Given the description of an element on the screen output the (x, y) to click on. 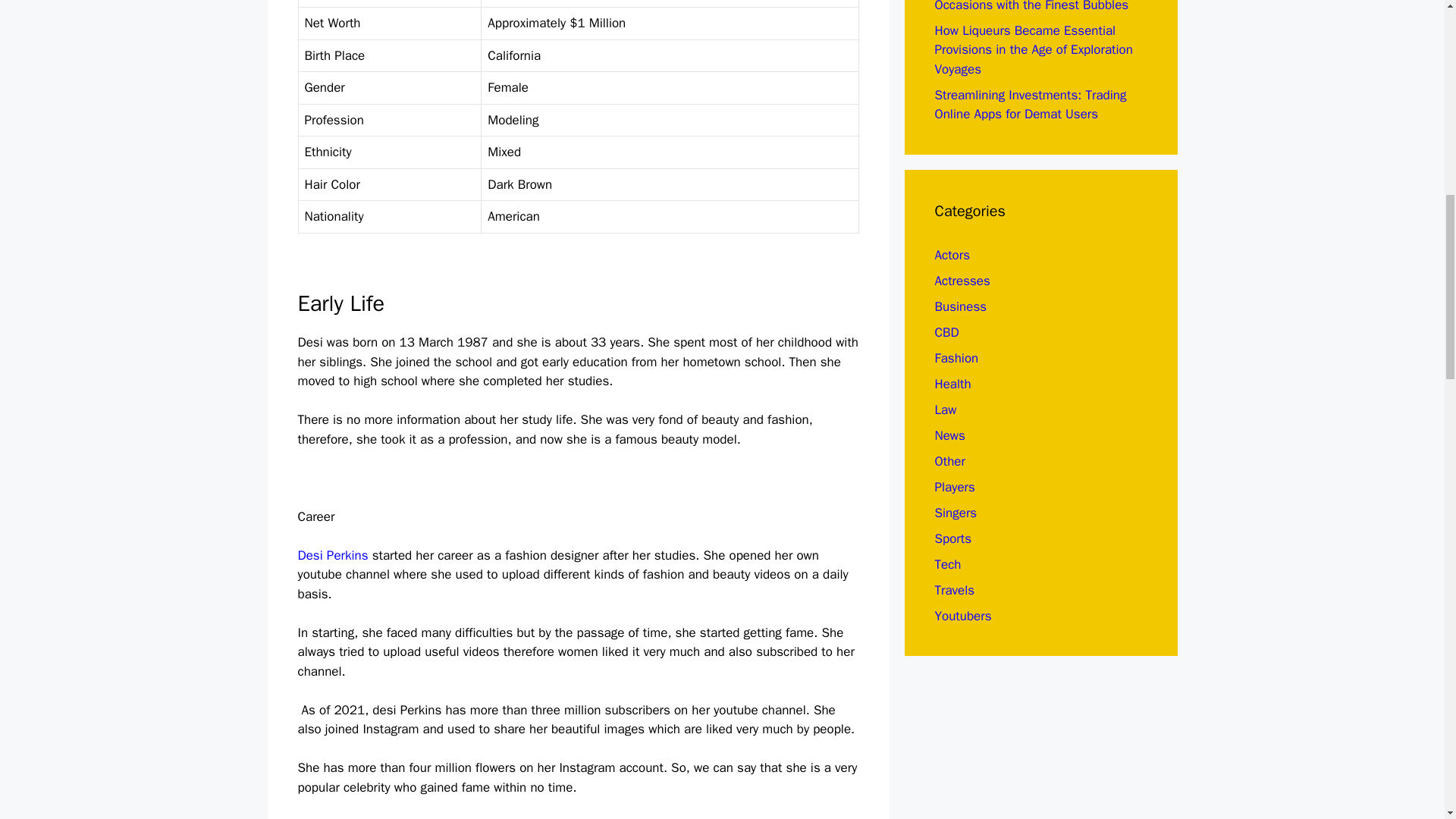
Actors (951, 254)
Health (952, 383)
CBD (946, 332)
Fashion (956, 358)
Actresses (962, 280)
Business (960, 306)
Desi Perkins (332, 555)
